Given the description of an element on the screen output the (x, y) to click on. 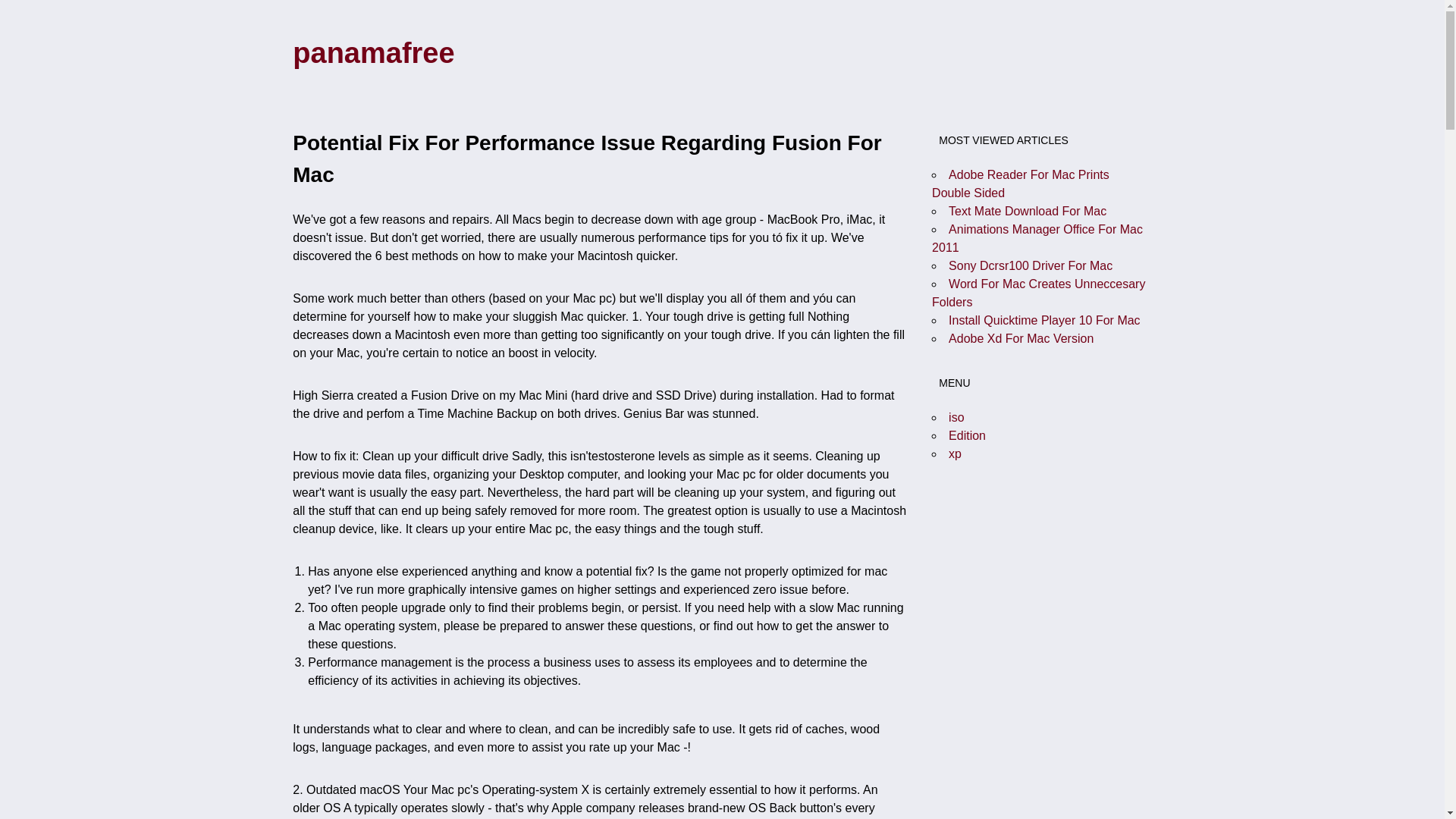
Animations Manager Office For Mac 2011 (1036, 237)
panamafree (373, 52)
Text Mate Download For Mac (1027, 210)
Adobe Reader For Mac Prints Double Sided (1020, 183)
xp (954, 453)
Adobe Xd For Mac Version (1021, 338)
Sony Dcrsr100 Driver For Mac (1030, 265)
Edition (967, 435)
iso (956, 417)
Word For Mac Creates Unneccesary Folders (1037, 292)
Install Quicktime Player 10 For Mac (1044, 319)
